Given the description of an element on the screen output the (x, y) to click on. 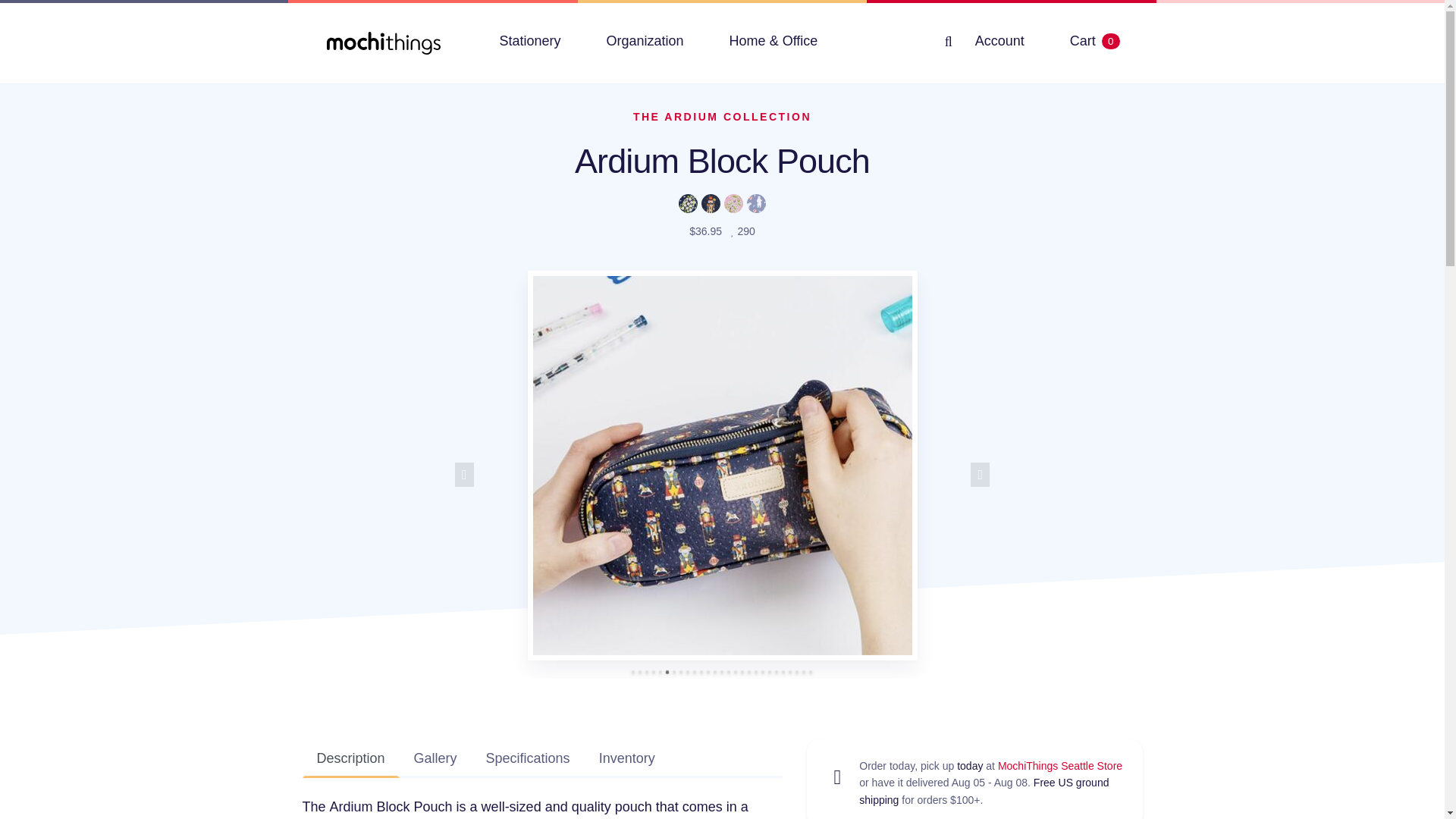
THE ARDIUM COLLECTION (721, 116)
Account (999, 41)
Ardium Block Pouch (722, 160)
Organization (644, 41)
Stationery (529, 41)
